Given the description of an element on the screen output the (x, y) to click on. 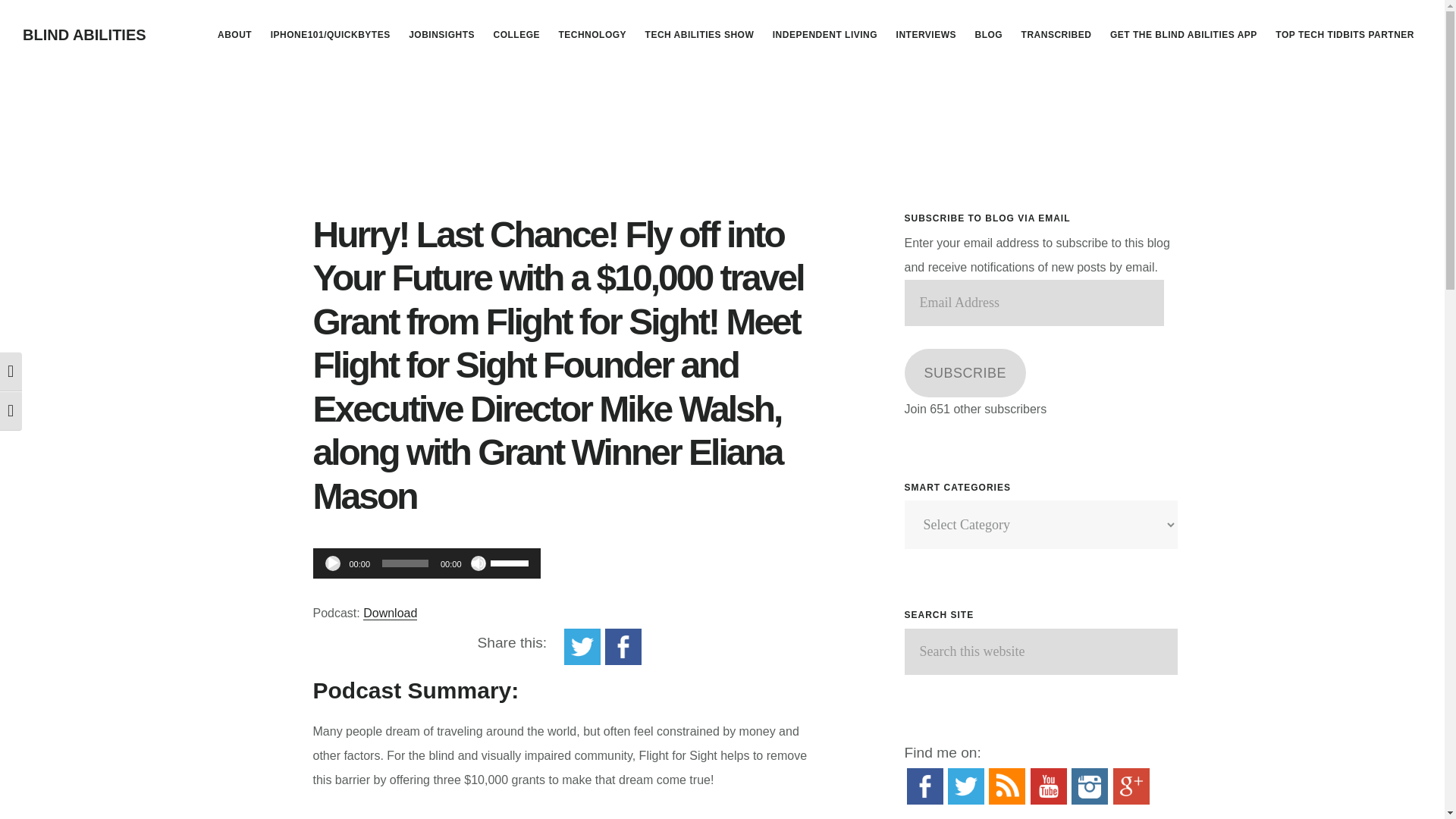
JOBINSIGHTS (441, 34)
GET THE BLIND ABILITIES APP (1183, 34)
TRANSCRIBED (1056, 34)
Mute (477, 563)
TECH ABILITIES SHOW (699, 34)
ABOUT (234, 34)
TECHNOLOGY (591, 34)
INTERVIEWS (925, 34)
